Given the description of an element on the screen output the (x, y) to click on. 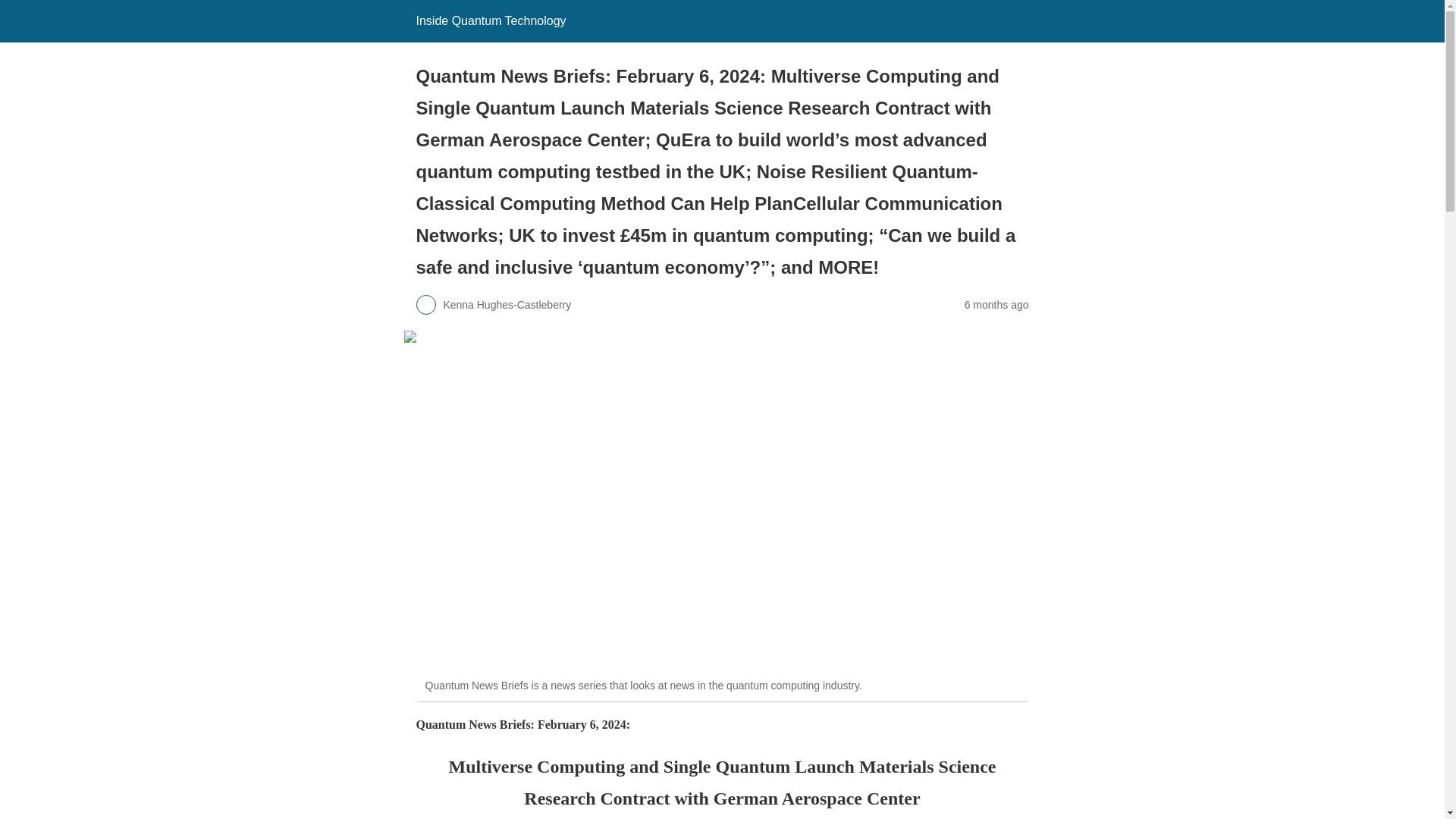
Inside Quantum Technology (490, 20)
